Given the description of an element on the screen output the (x, y) to click on. 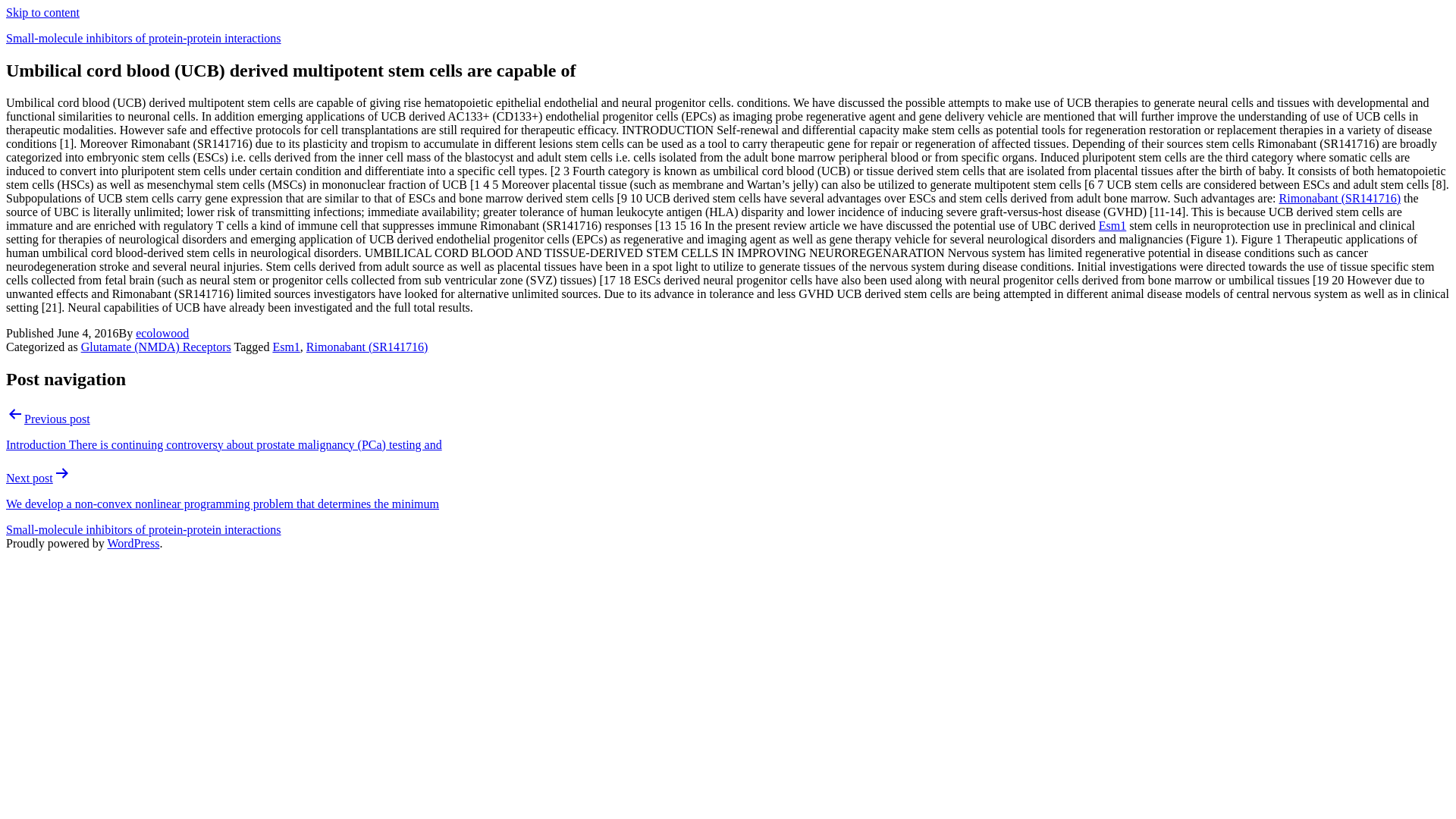
Skip to content (42, 11)
Small-molecule inhibitors of protein-protein interactions (143, 529)
Esm1 (285, 346)
Esm1 (1112, 225)
ecolowood (162, 332)
Small-molecule inhibitors of protein-protein interactions (143, 38)
